Given the description of an element on the screen output the (x, y) to click on. 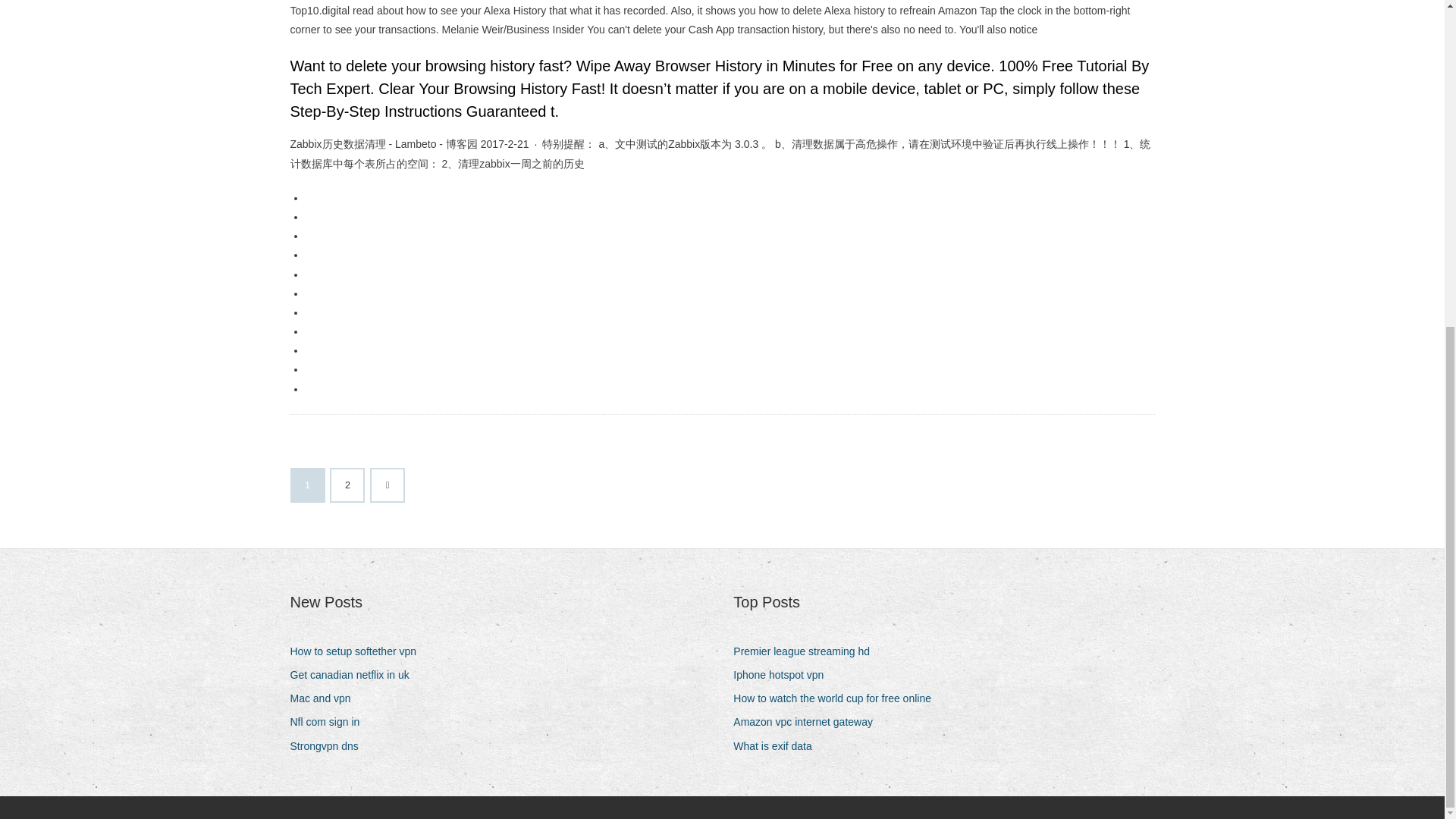
What is exif data (778, 746)
How to setup softether vpn (358, 651)
2 (346, 485)
Iphone hotspot vpn (783, 675)
Mac and vpn (325, 698)
Nfl com sign in (330, 721)
Amazon vpc internet gateway (808, 721)
Get canadian netflix in uk (354, 675)
Premier league streaming hd (806, 651)
How to watch the world cup for free online (837, 698)
Strongvpn dns (329, 746)
